Given the description of an element on the screen output the (x, y) to click on. 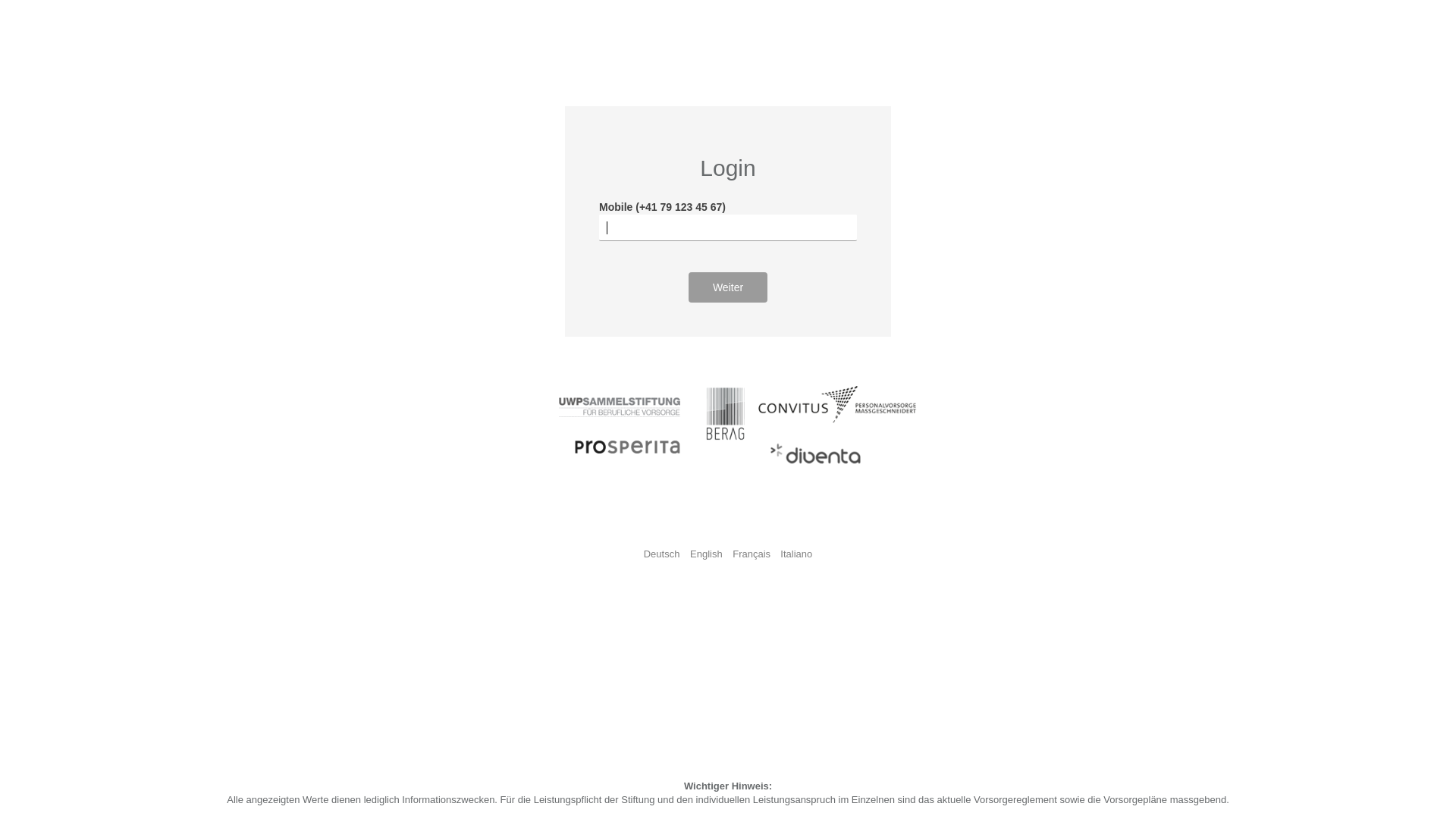
Weiter Element type: text (727, 287)
